Given the description of an element on the screen output the (x, y) to click on. 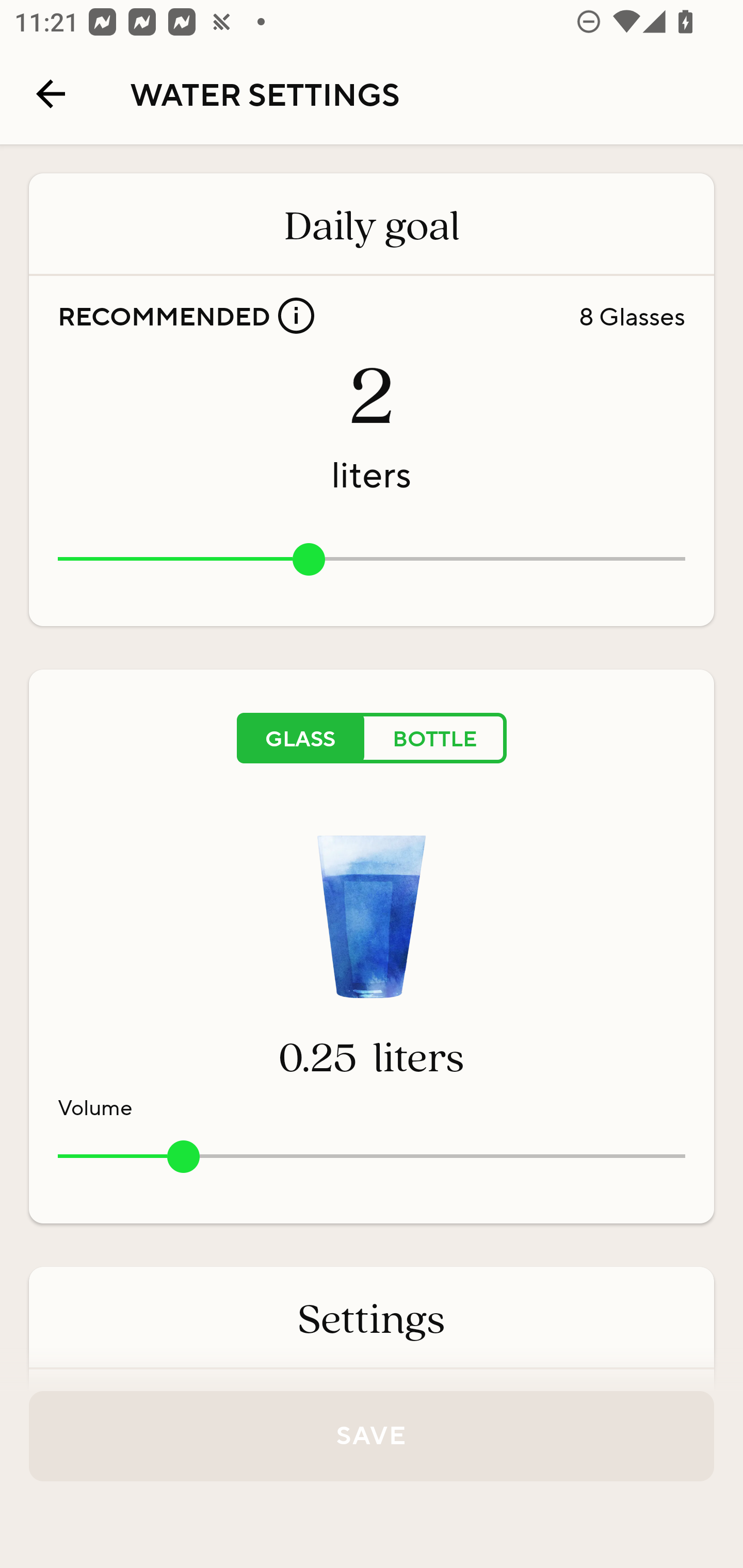
Navigate up (50, 93)
RECOMMENDED (185, 315)
GLASS (300, 738)
BOTTLE (435, 738)
SAVE (371, 1435)
